Given the description of an element on the screen output the (x, y) to click on. 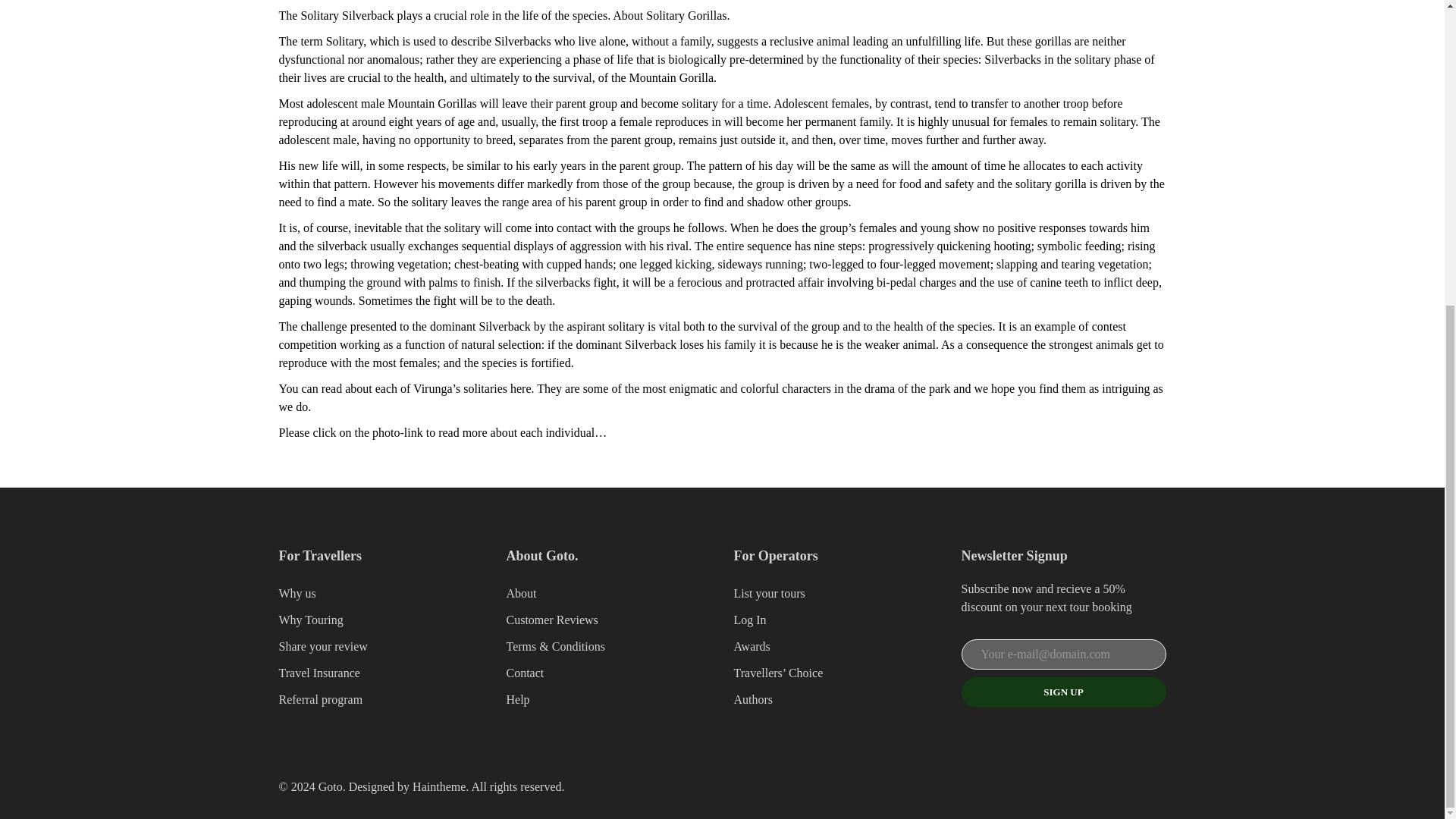
Customer Reviews (552, 619)
Log In (750, 619)
Awards (751, 645)
About (521, 593)
Travel Insurance (319, 672)
Authors (753, 698)
Share your review (323, 645)
Why Touring (311, 619)
Contact (525, 672)
Why us (297, 593)
Help (517, 698)
List your tours (769, 593)
Referral program (320, 698)
SIGN UP (1063, 692)
